Given the description of an element on the screen output the (x, y) to click on. 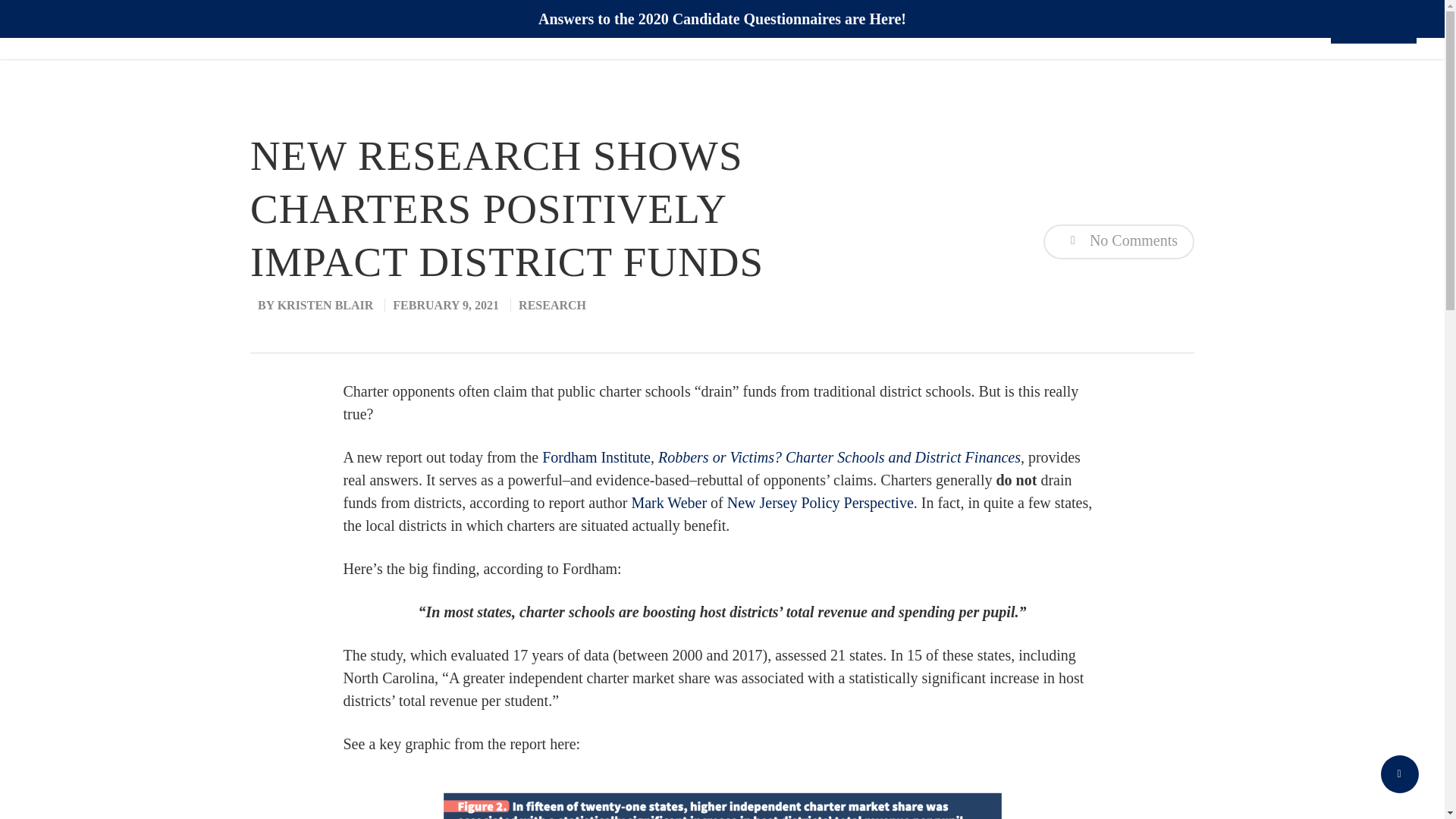
Answers to the 2020 Candidate Questionnaires are Here! (721, 18)
PREFERRED VENDORS (1233, 29)
North Carolina Coalition for Charter Schools (155, 29)
Posts by Kristen Blair (326, 305)
COMMUNICATION (938, 29)
ABOUT (701, 29)
DONATE (1373, 29)
ADVOCACY (801, 29)
MEMBERSHIP (1082, 29)
